Given the description of an element on the screen output the (x, y) to click on. 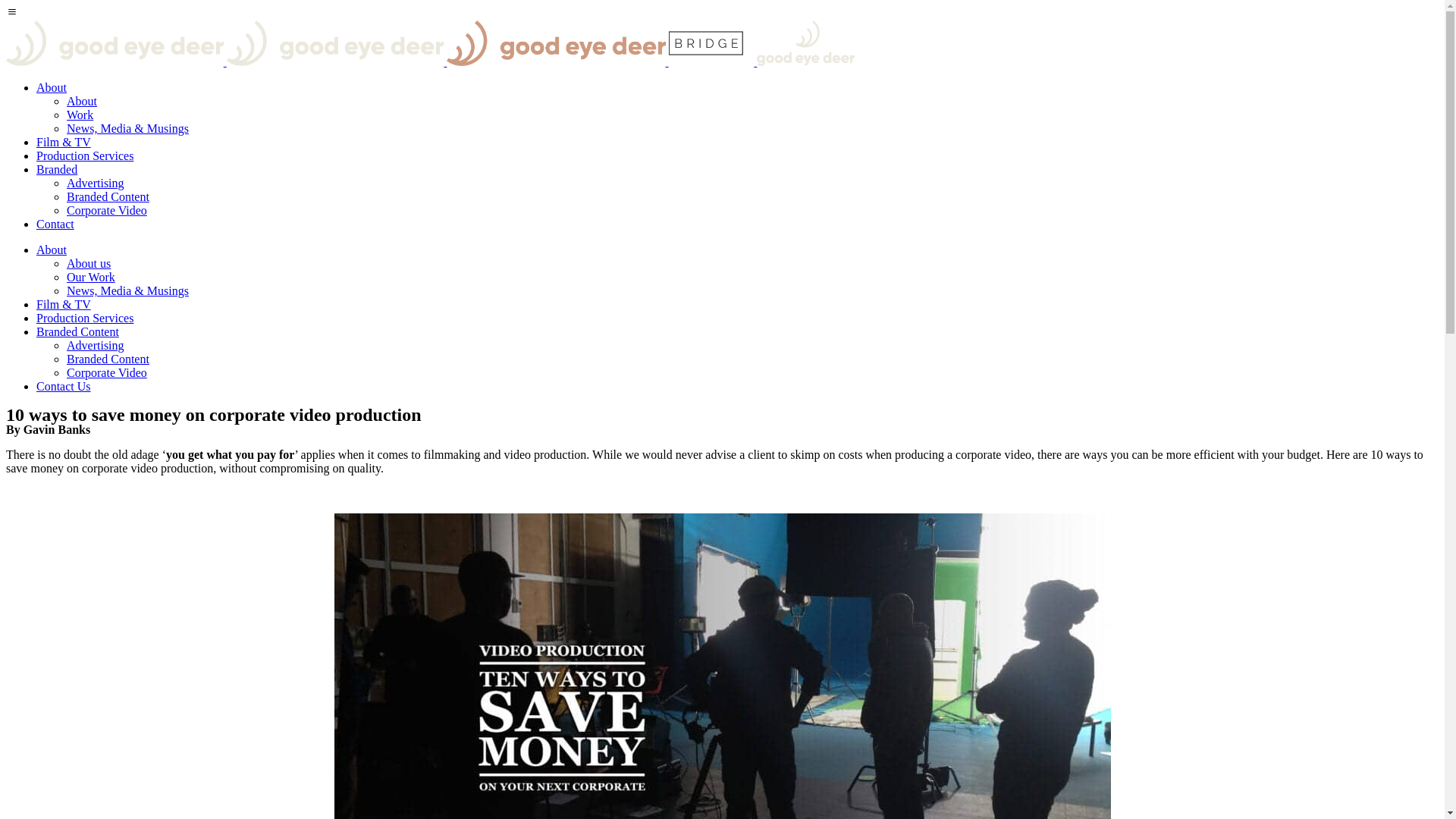
Film & TV Element type: text (63, 141)
News, Media & Musings Element type: text (127, 290)
Film & TV Element type: text (63, 304)
About Element type: text (51, 87)
Advertising Element type: text (95, 182)
News, Media & Musings Element type: text (127, 128)
Production Services Element type: text (84, 317)
Contact Us Element type: text (63, 385)
Our Work Element type: text (90, 276)
Production Services Element type: text (84, 155)
Branded Element type: text (56, 169)
Branded Content Element type: text (77, 331)
Work Element type: text (79, 114)
About us Element type: text (88, 263)
Contact Element type: text (55, 223)
Corporate Video Element type: text (106, 372)
About Element type: text (51, 249)
About Element type: text (81, 100)
Branded Content Element type: text (107, 358)
Advertising Element type: text (95, 344)
Branded Content Element type: text (107, 196)
Corporate Video Element type: text (106, 209)
